Given the description of an element on the screen output the (x, y) to click on. 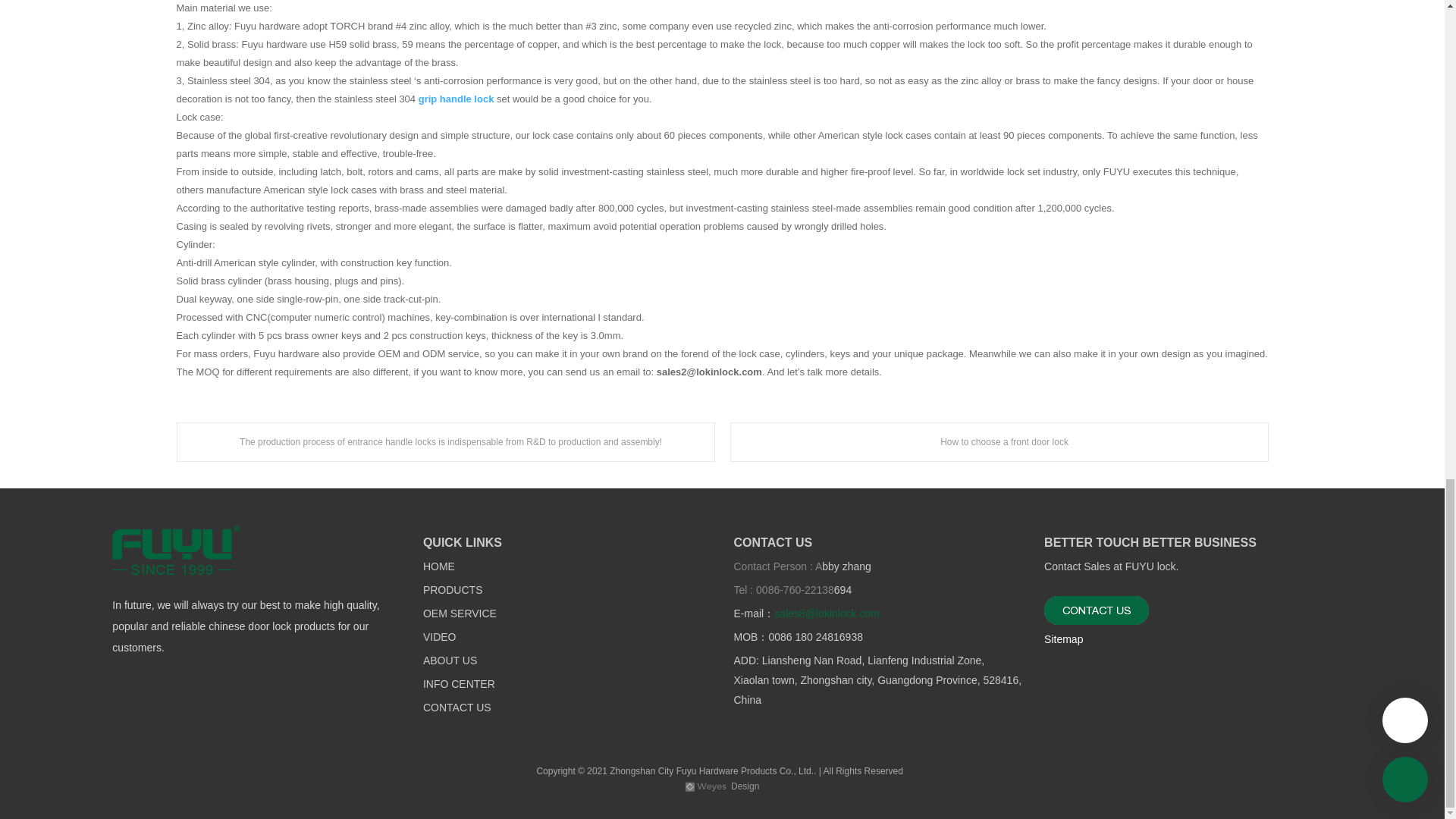
How to choose a front door lock (998, 441)
grip handle lock (457, 98)
HOME (438, 566)
How to choose a front door lock (998, 441)
PRODUCTS (453, 590)
